Given the description of an element on the screen output the (x, y) to click on. 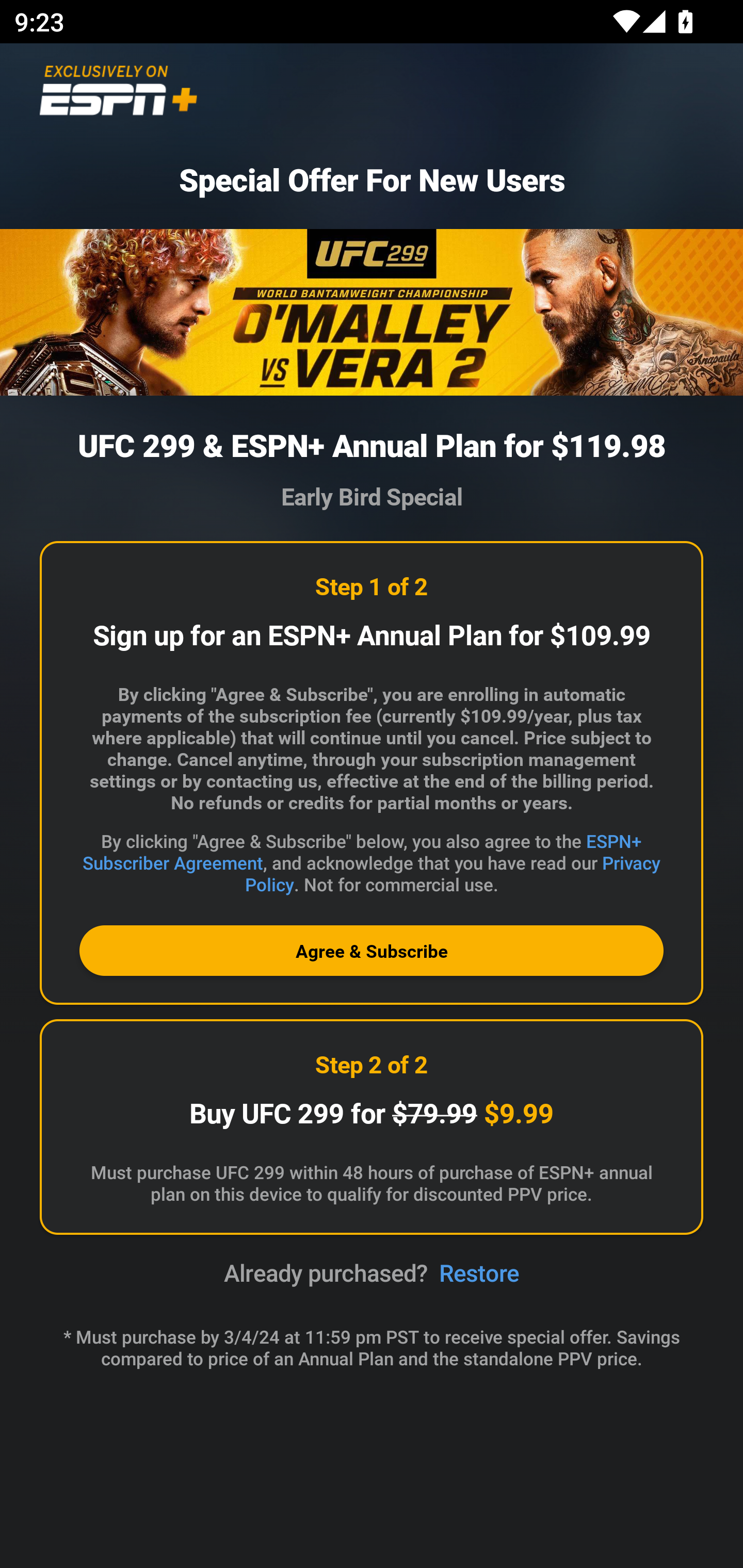
Agree & Subscribe (371, 950)
